Given the description of an element on the screen output the (x, y) to click on. 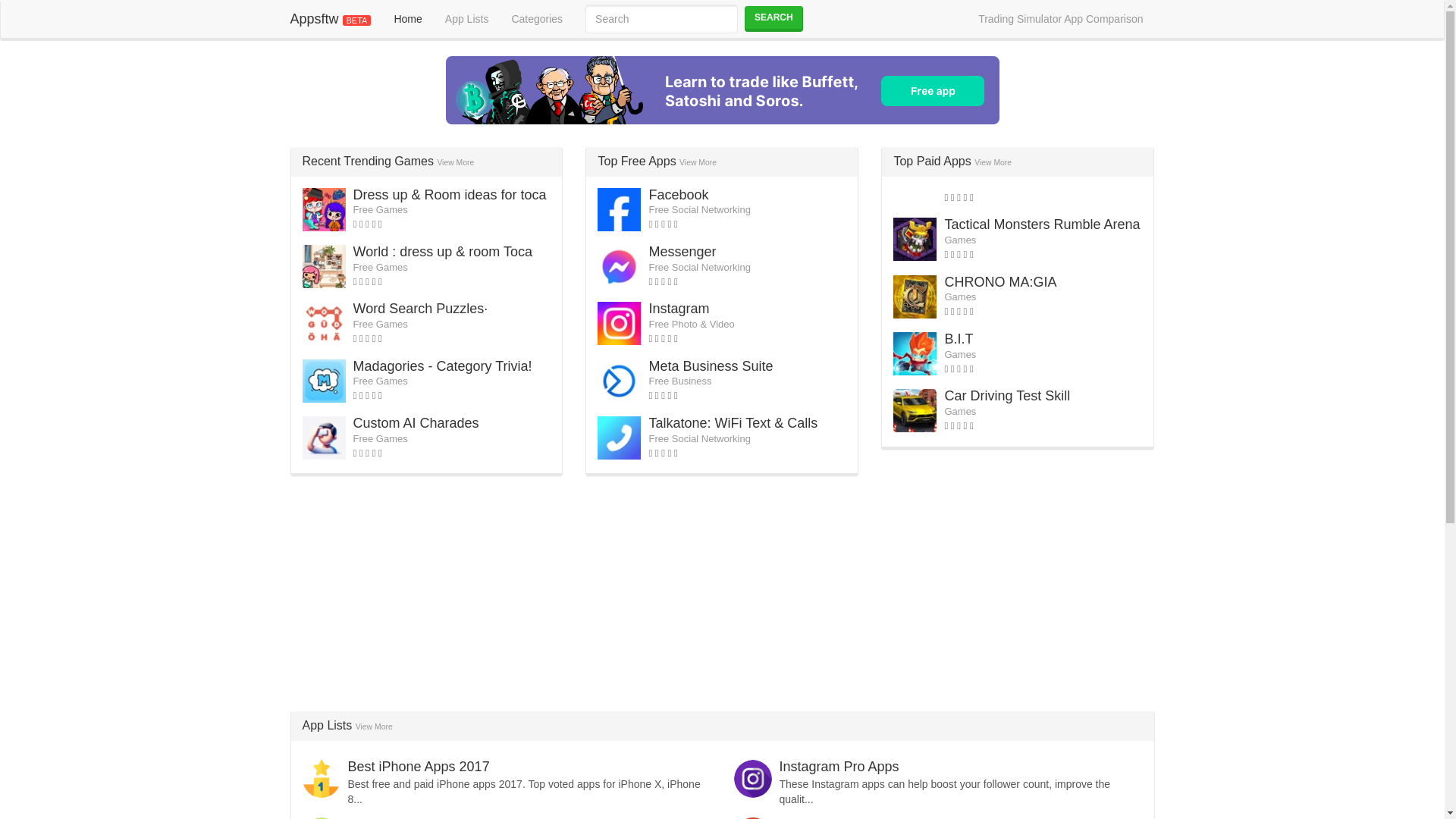
Best iPhone Apps 2017 (418, 766)
Tactical Monsters Rumble Arena (1041, 224)
View Madagories - Category Trivia! (442, 365)
Trading Simulator App Comparison (1060, 18)
Instagram (678, 308)
View Messenger (681, 251)
View Custom AI Charades (416, 422)
View Facebook (677, 194)
View Tactical Monsters Rumble Arena (1041, 224)
